Given the description of an element on the screen output the (x, y) to click on. 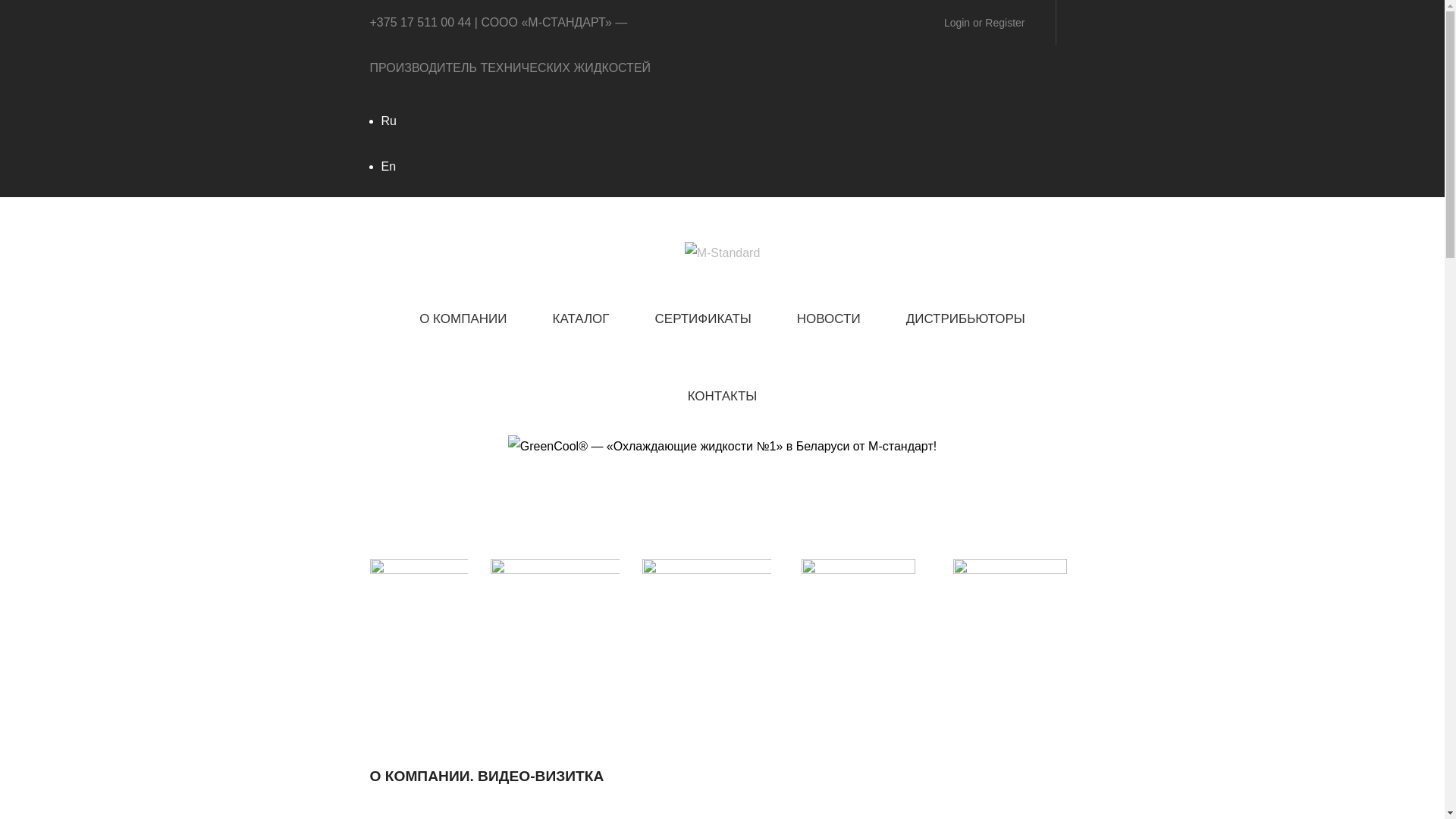
Login or Register Element type: text (984, 22)
M-Standard Element type: hover (722, 250)
En Element type: text (387, 166)
Ru Element type: text (387, 120)
